Given the description of an element on the screen output the (x, y) to click on. 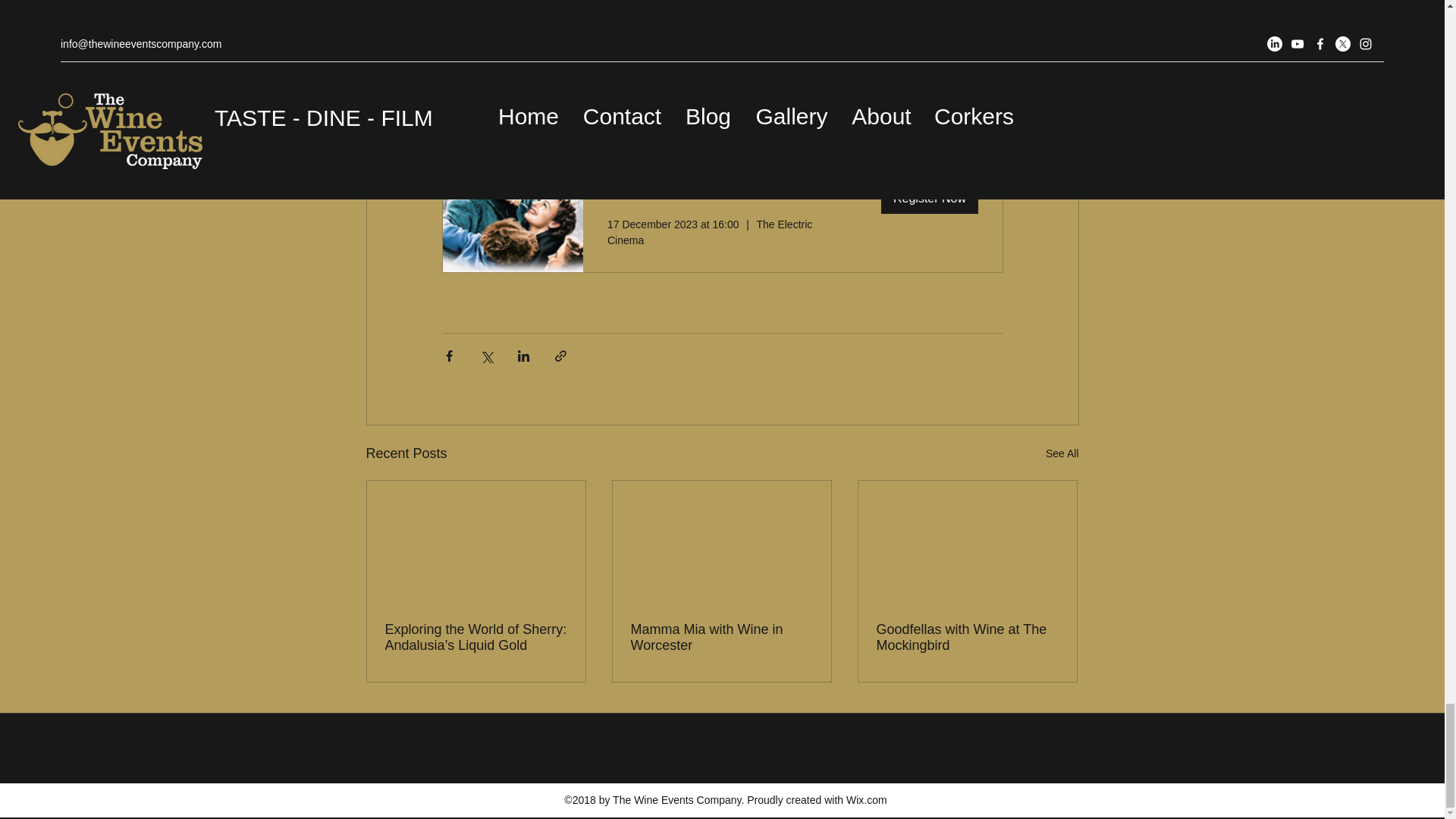
See All (1061, 454)
Goodfellas with Wine at The Mockingbird (967, 637)
Mamma Mia with Wine in Worcester (721, 637)
